Given the description of an element on the screen output the (x, y) to click on. 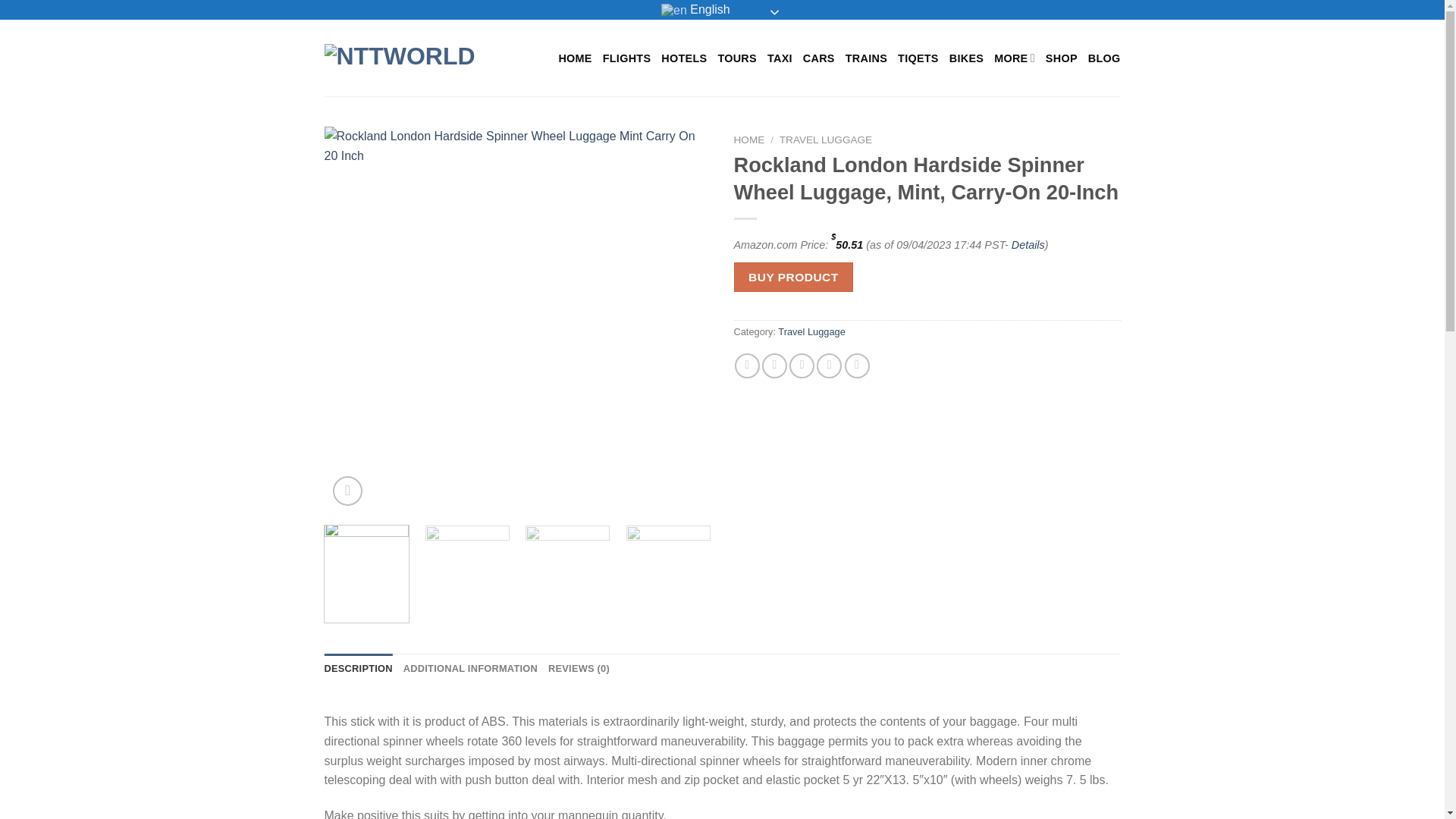
English (721, 9)
CARS (818, 58)
MORE (1014, 57)
TIQETS (918, 58)
HOME (574, 58)
BLOG (1104, 58)
HOTELS (683, 58)
FLIGHTS (626, 58)
TRAINS (865, 58)
TAXI (779, 58)
